Given the description of an element on the screen output the (x, y) to click on. 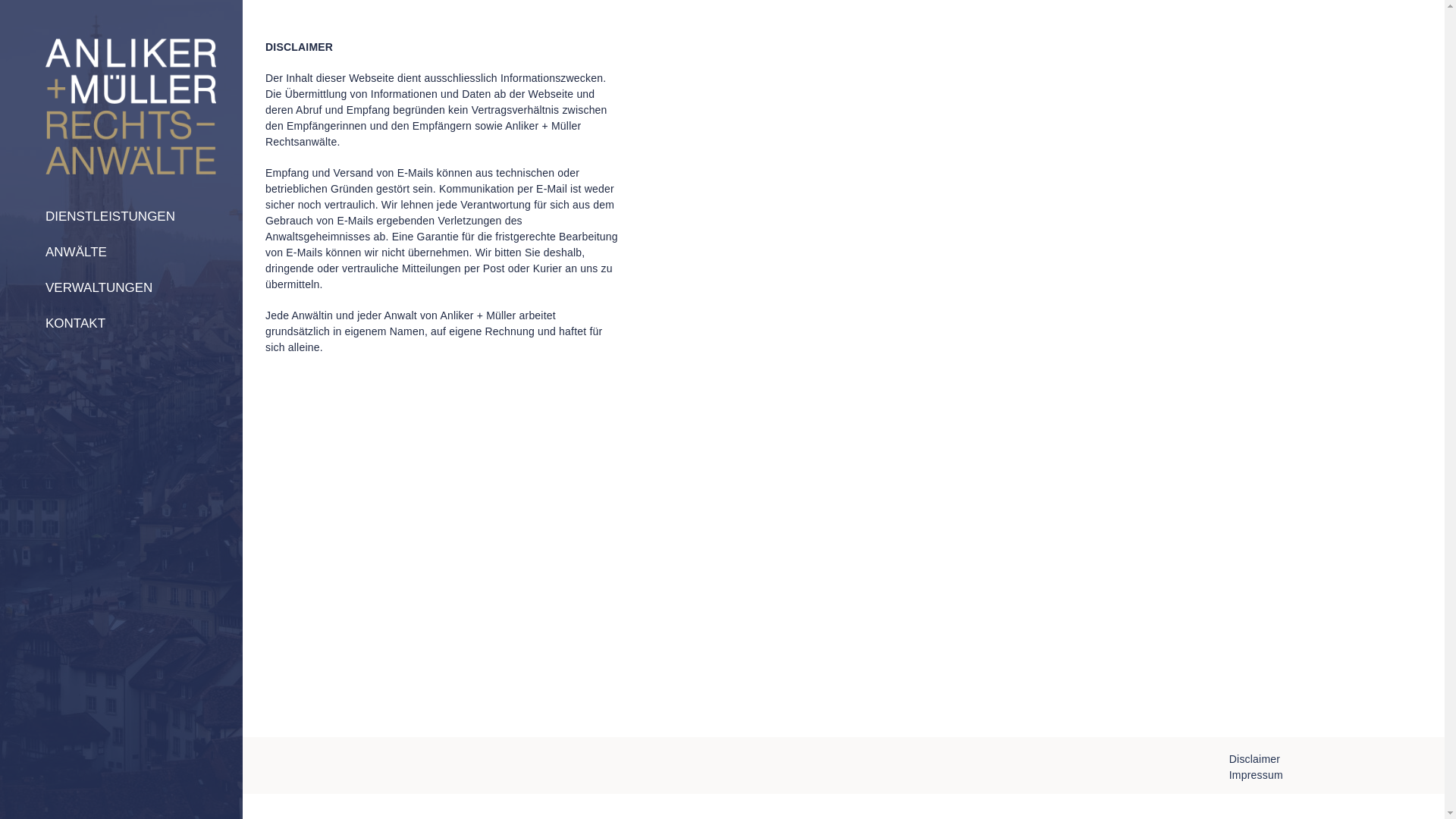
Disclaimer Element type: text (1254, 759)
VERWALTUNGEN Element type: text (121, 287)
DIENSTLEISTUNGEN Element type: text (121, 215)
Impressum Element type: text (1256, 774)
KONTAKT Element type: text (121, 323)
